Given the description of an element on the screen output the (x, y) to click on. 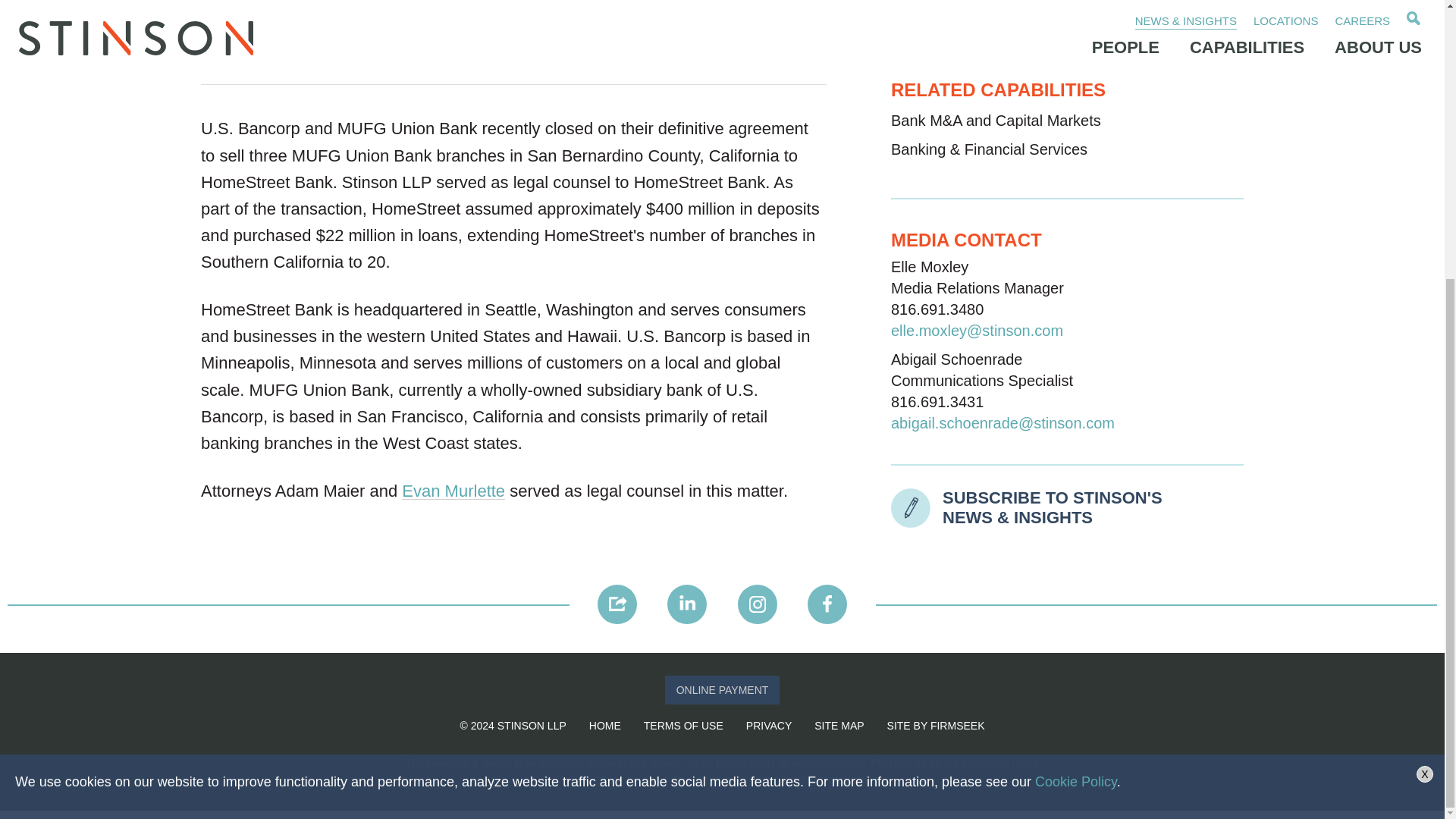
Evan Murlette (453, 490)
Share (616, 603)
Cookie Policy (1075, 366)
